Given the description of an element on the screen output the (x, y) to click on. 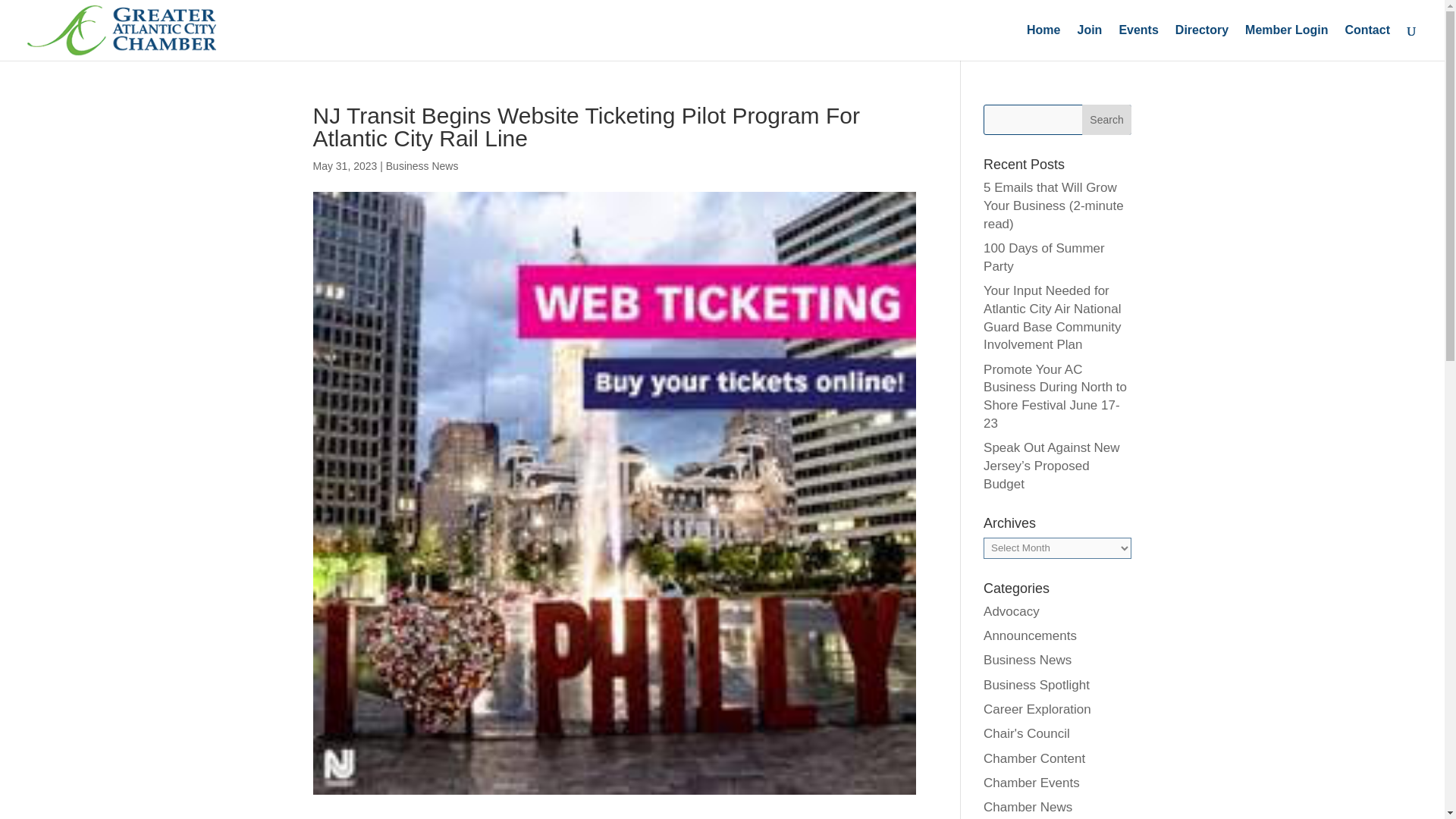
Chamber Events (1032, 782)
Contact (1366, 42)
Chamber News (1027, 807)
Advocacy (1011, 611)
100 Days of Summer Party (1044, 256)
Business Spotlight (1036, 685)
Search (1106, 119)
Announcements (1030, 635)
Chair's Council (1027, 733)
Business News (1027, 659)
Business News (421, 165)
Career Exploration (1037, 708)
Member Login (1285, 42)
